Given the description of an element on the screen output the (x, y) to click on. 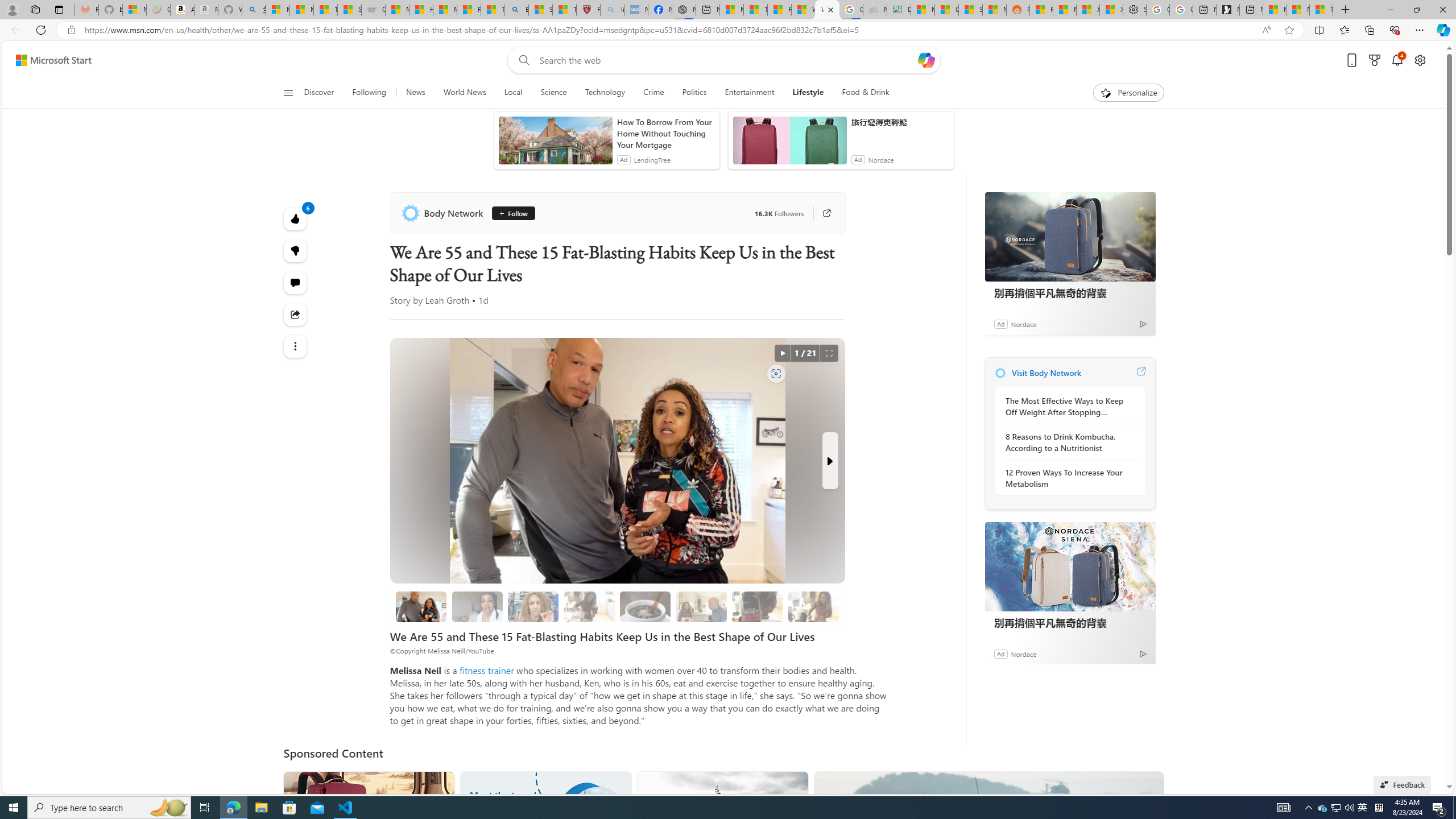
These 3 Stocks Pay You More Than 5% to Own Them (1321, 9)
7 They Don't Skip Meals (812, 606)
6 Since Eating More Protein Her Training Has Improved (757, 606)
